Given the description of an element on the screen output the (x, y) to click on. 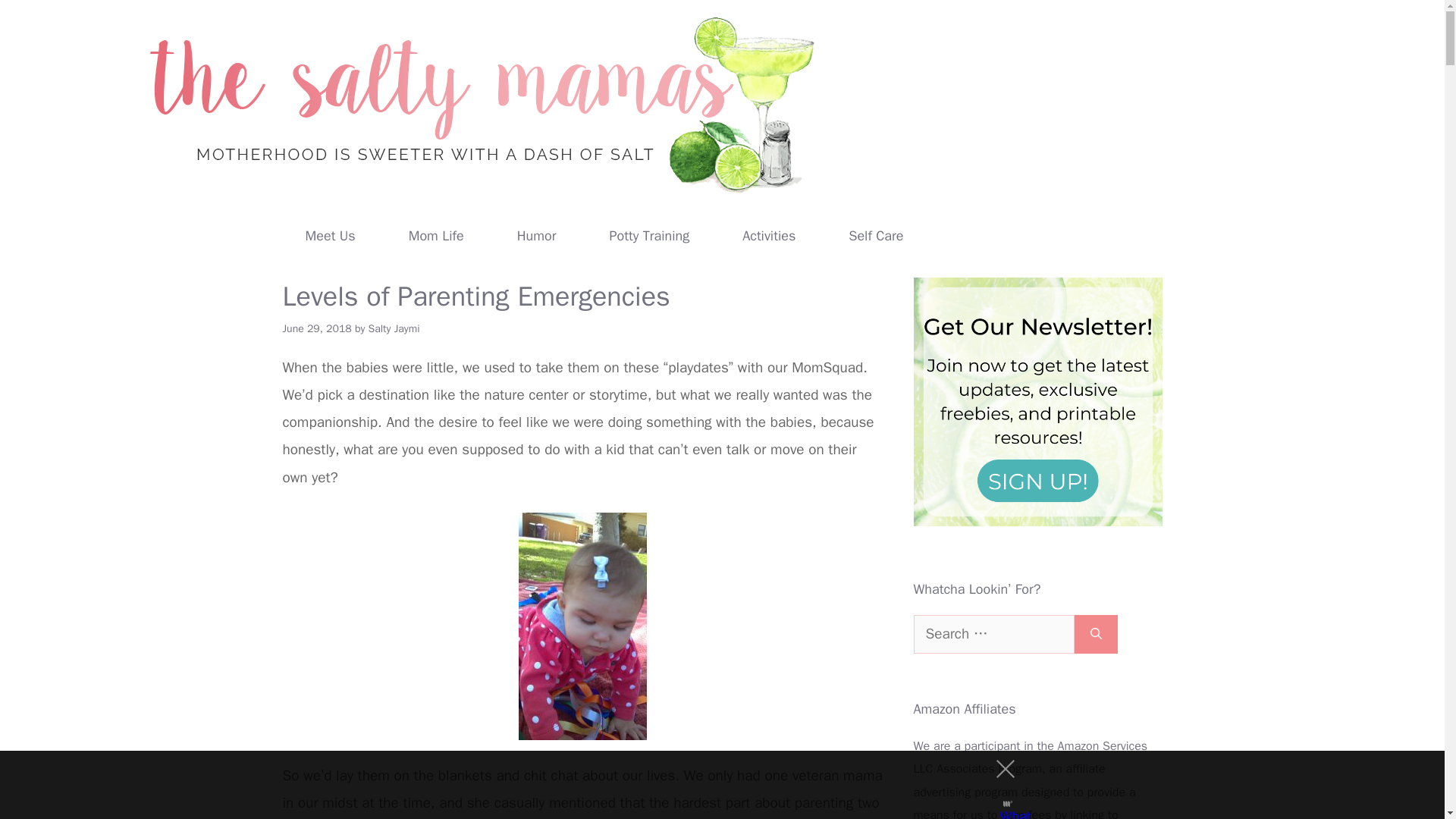
Activities (769, 235)
3rd party ad content (708, 785)
Mom Life (435, 235)
Search for: (993, 634)
Meet Us (330, 235)
Salty Jaymi (394, 328)
View all posts by Salty Jaymi (394, 328)
Humor (536, 235)
Potty Training (649, 235)
Self Care (876, 235)
